Given the description of an element on the screen output the (x, y) to click on. 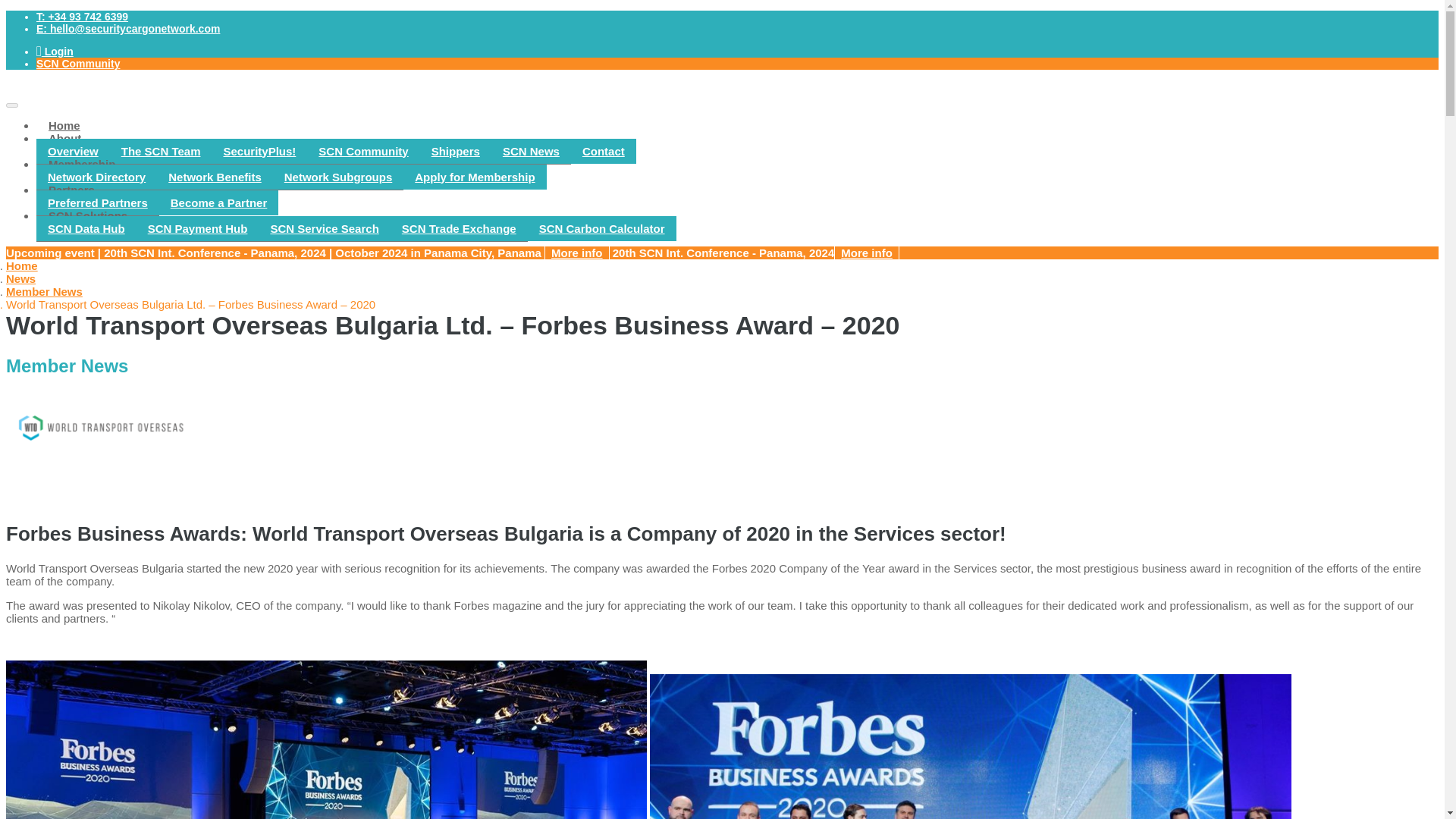
Overview (73, 151)
Become a Partner (218, 202)
More info (577, 252)
More info (866, 252)
SCN Trade Exchange (458, 228)
Network Directory (96, 177)
Home (21, 265)
About (64, 137)
SCN Payment Hub (197, 228)
Login (55, 51)
Network Subgroups (338, 177)
SCN Solutions (87, 214)
Membership (82, 163)
SCN News (531, 151)
